Given the description of an element on the screen output the (x, y) to click on. 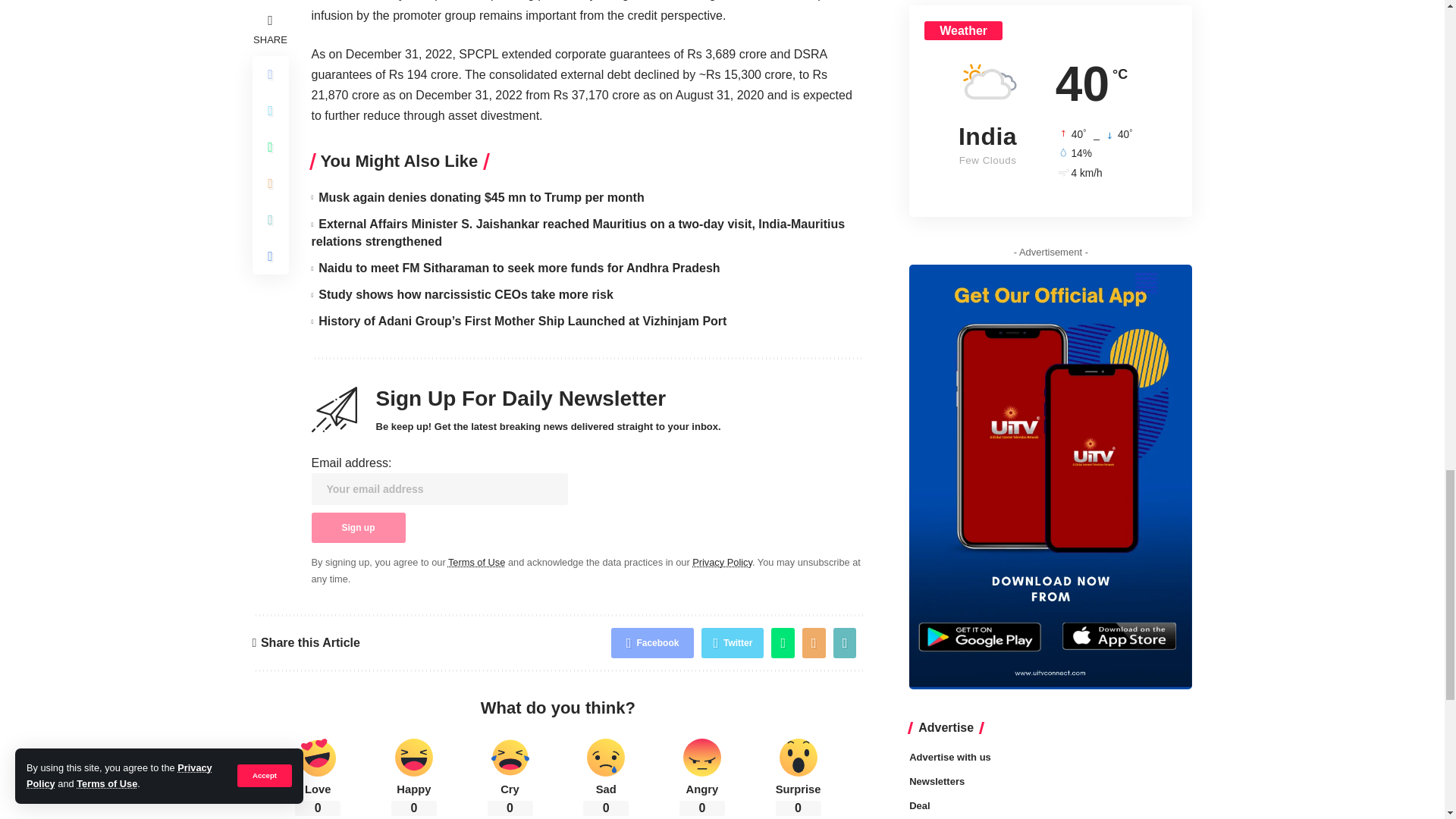
Sign up (357, 527)
